Given the description of an element on the screen output the (x, y) to click on. 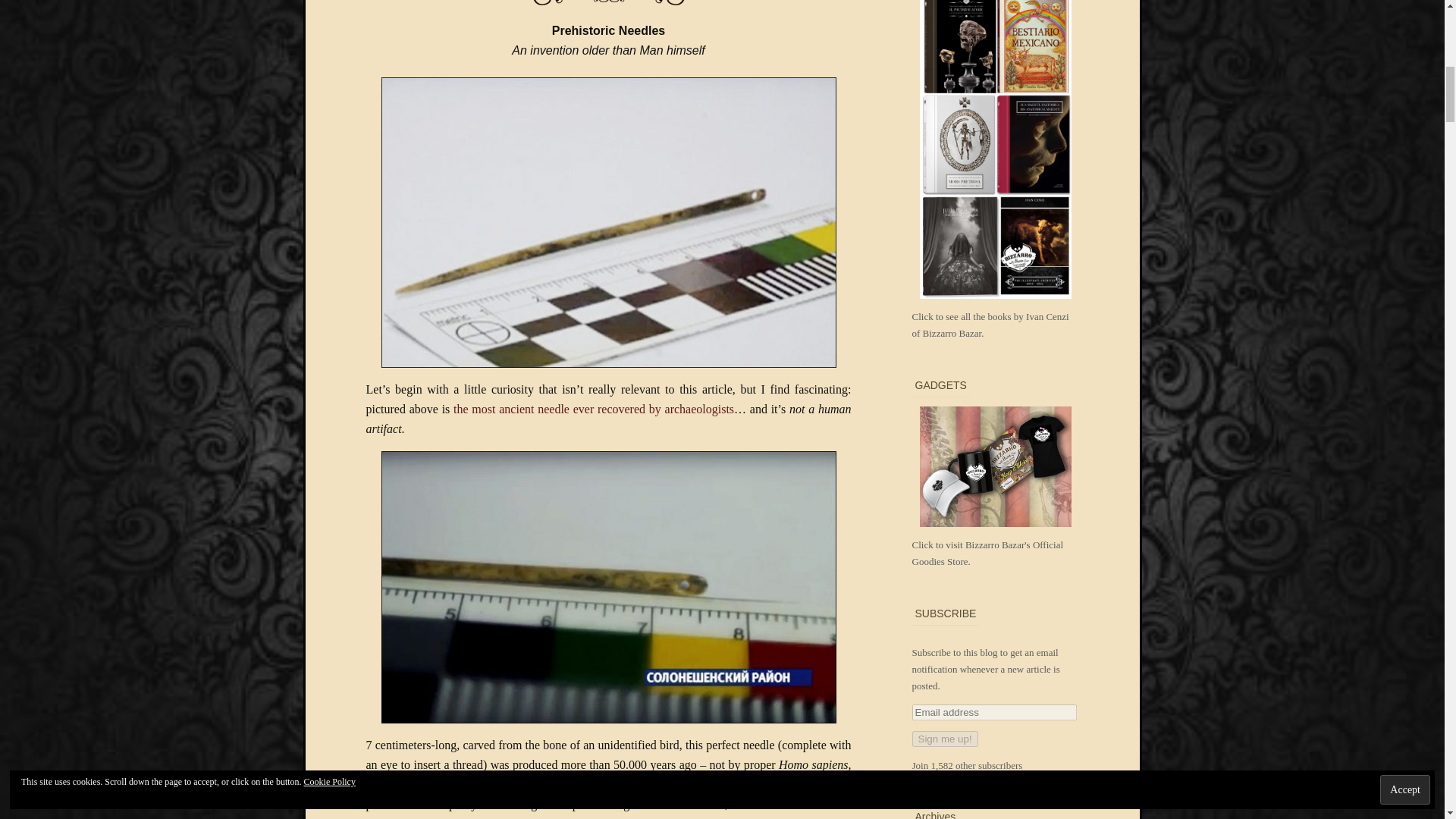
GADGETS (994, 480)
the most ancient needle ever recovered by archaeologists (592, 408)
Denisova hominin (538, 784)
